Given the description of an element on the screen output the (x, y) to click on. 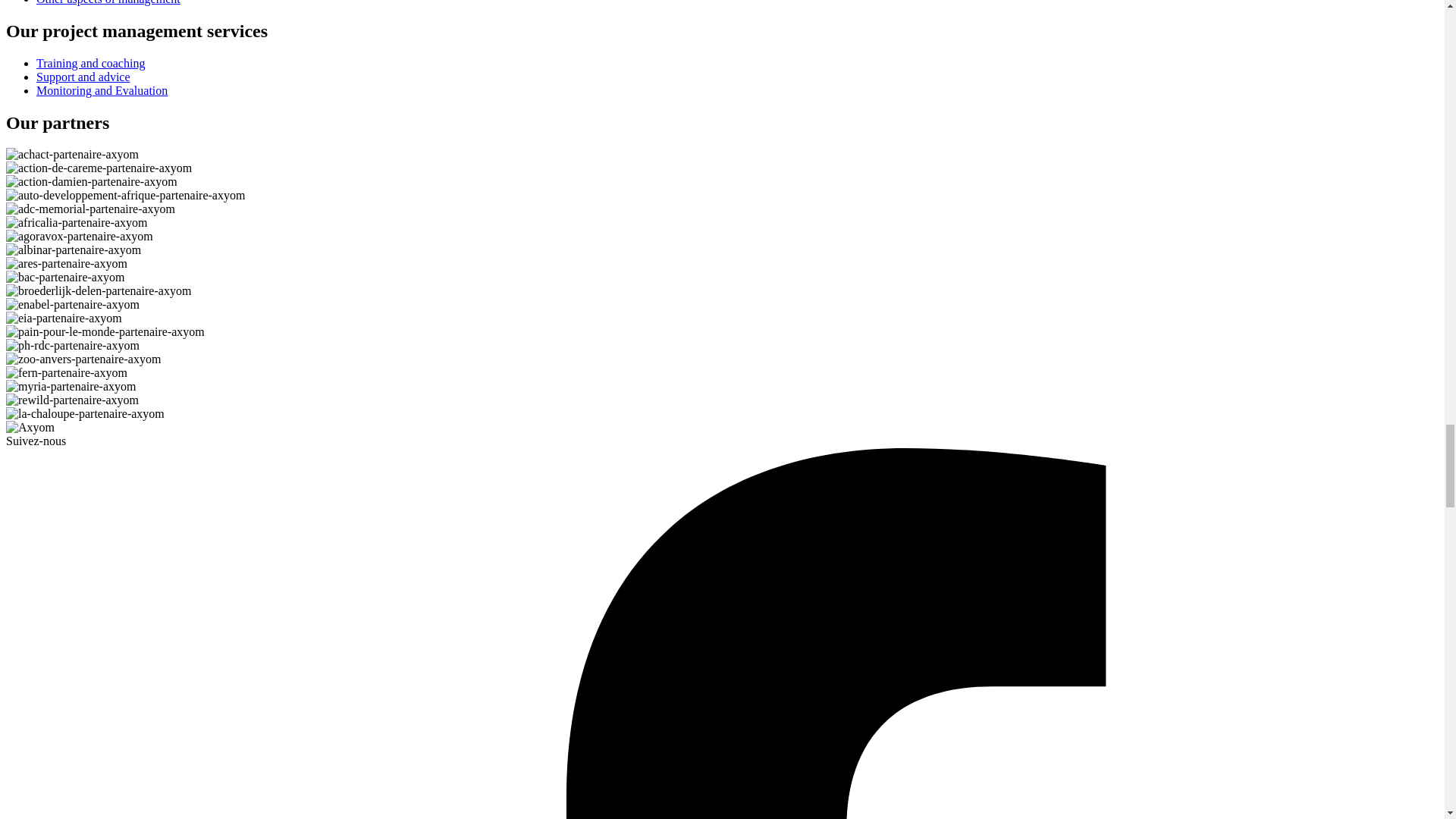
Other aspects of management (108, 2)
Monitoring and Evaluation (101, 90)
Support and advice (83, 76)
Training and coaching (90, 62)
Other aspects of management (108, 2)
